Given the description of an element on the screen output the (x, y) to click on. 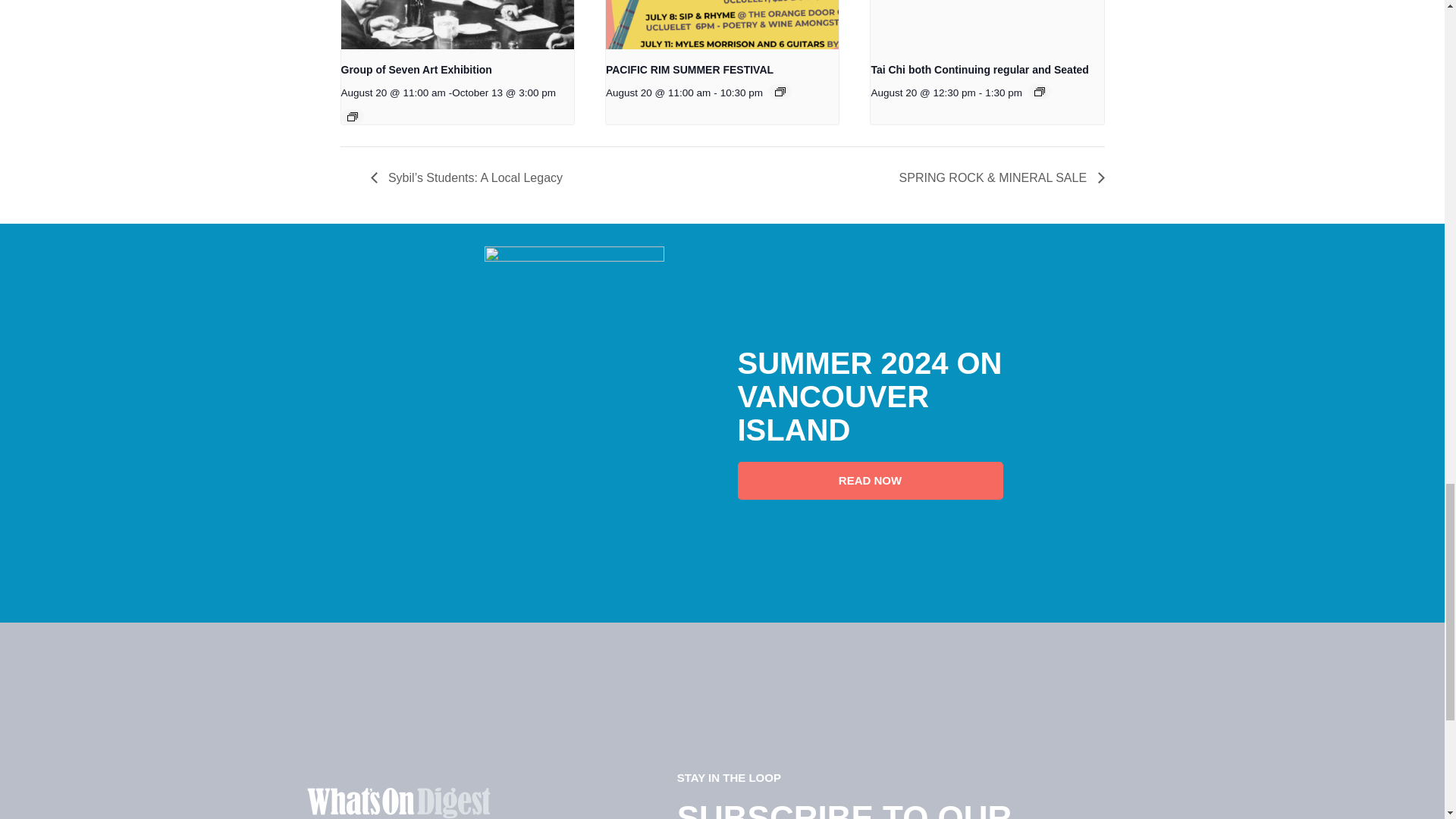
Event Series (780, 91)
Event Series (352, 116)
Event Series (1039, 91)
